Given the description of an element on the screen output the (x, y) to click on. 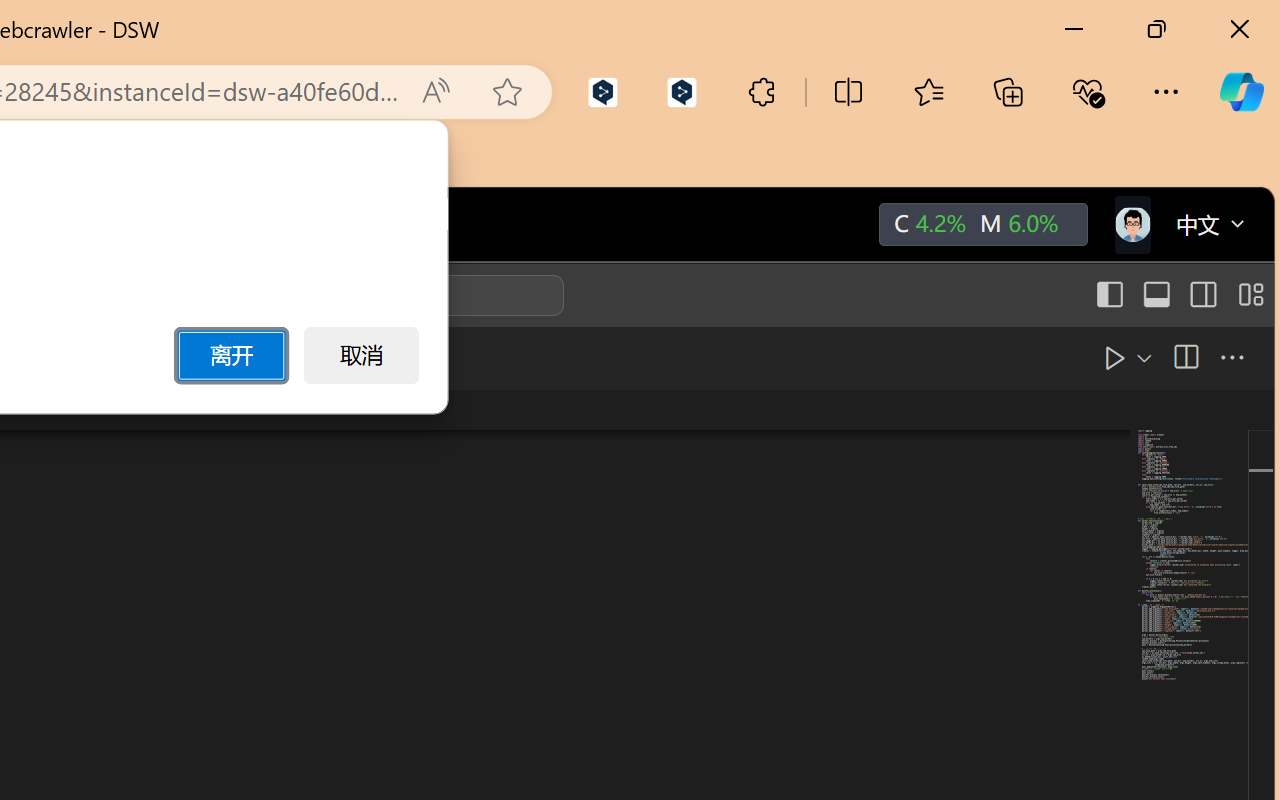
Toggle Secondary Side Bar (Ctrl+Alt+B) (1201, 295)
Toggle Primary Side Bar (Ctrl+B) (1108, 295)
Copilot (Ctrl+Shift+.) (1241, 91)
Toggle Panel (Ctrl+J) (1155, 295)
icon (1131, 220)
Open Changes (1137, 357)
C4.2% M6.0% (981, 225)
